Given the description of an element on the screen output the (x, y) to click on. 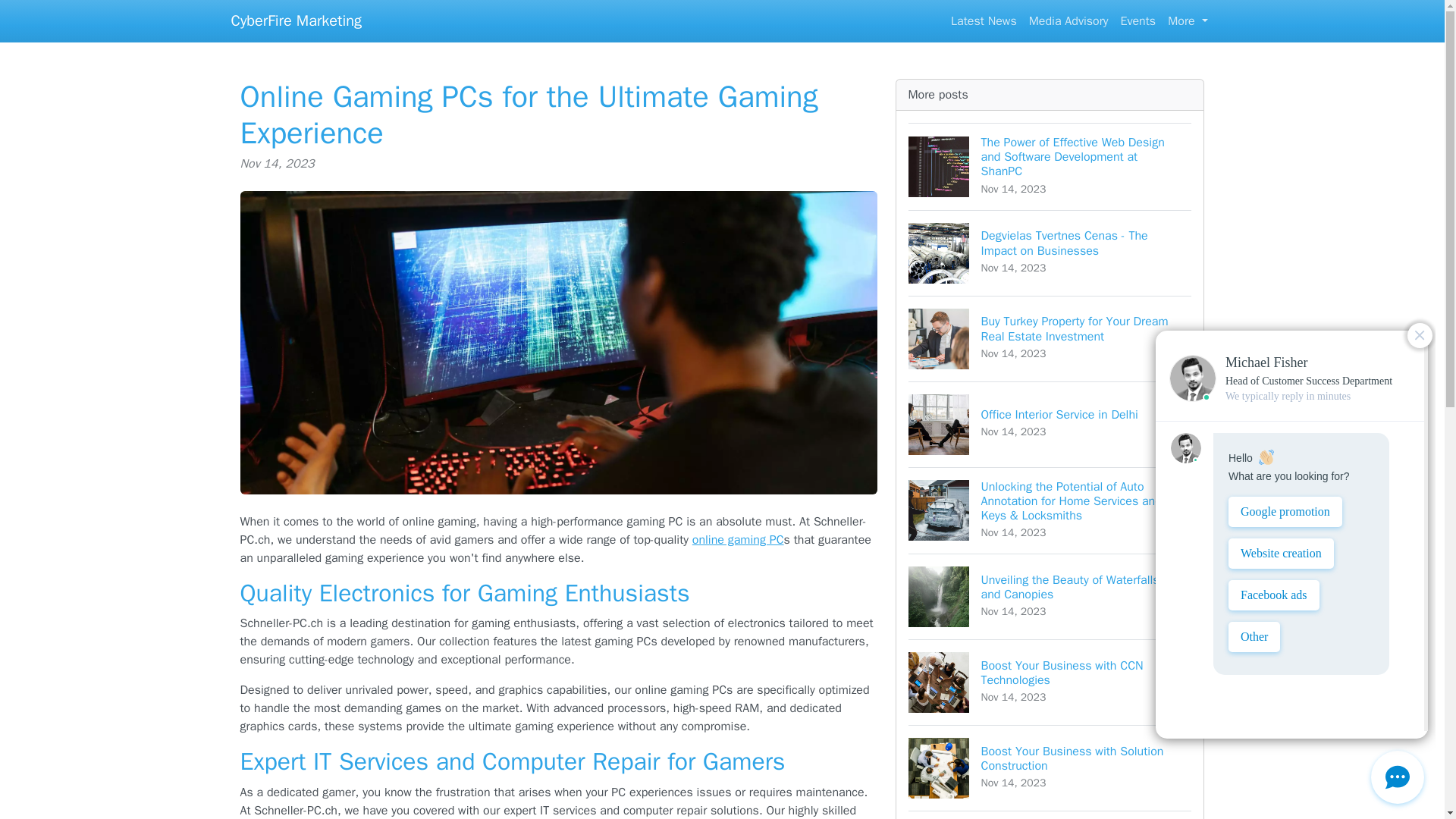
Media Advisory (1069, 20)
More (1186, 20)
Latest News (1050, 767)
Events (1050, 681)
online gaming PC (1050, 423)
CyberFire Marketing (983, 20)
